Given the description of an element on the screen output the (x, y) to click on. 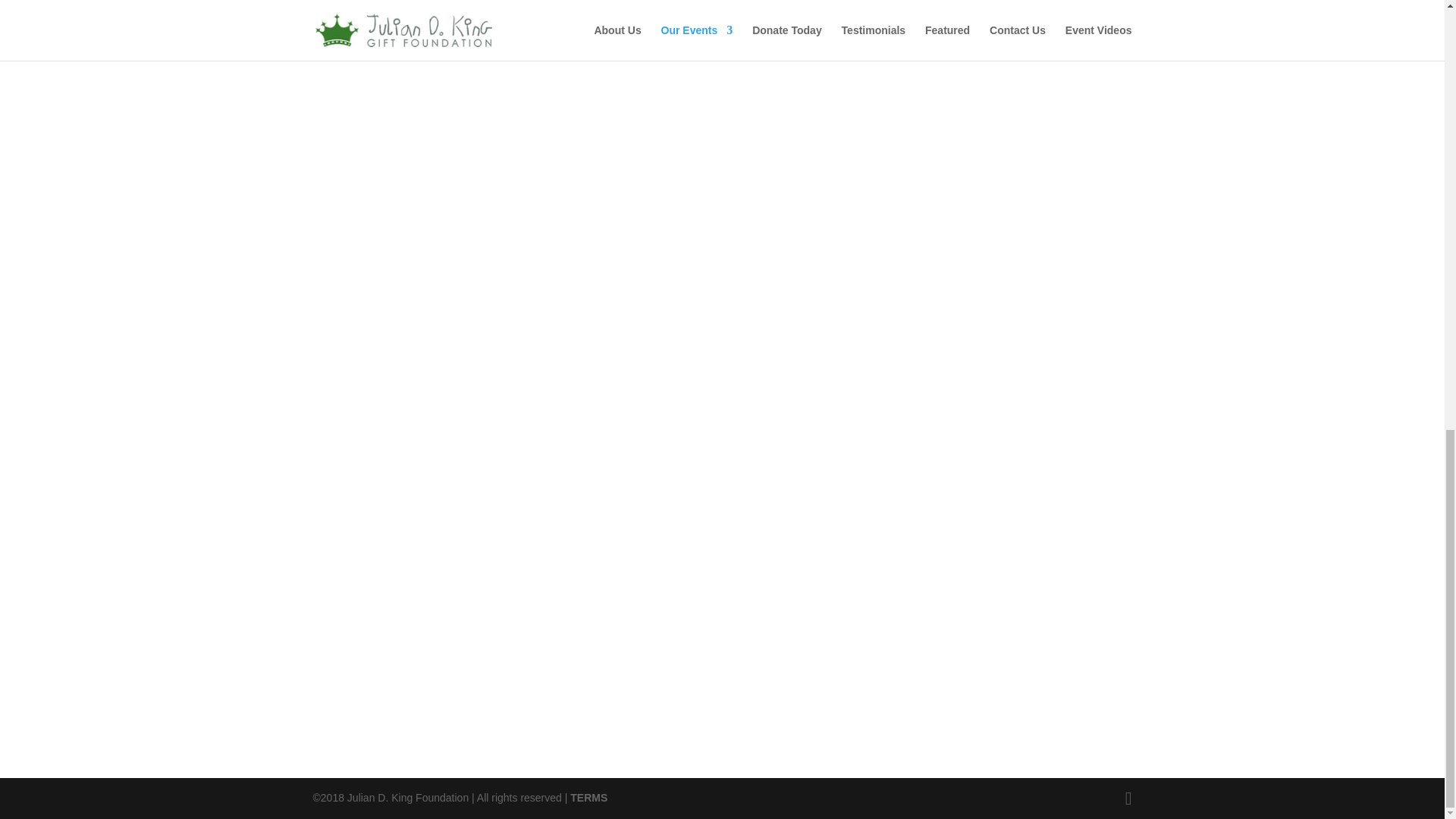
TERMS (588, 797)
